Given the description of an element on the screen output the (x, y) to click on. 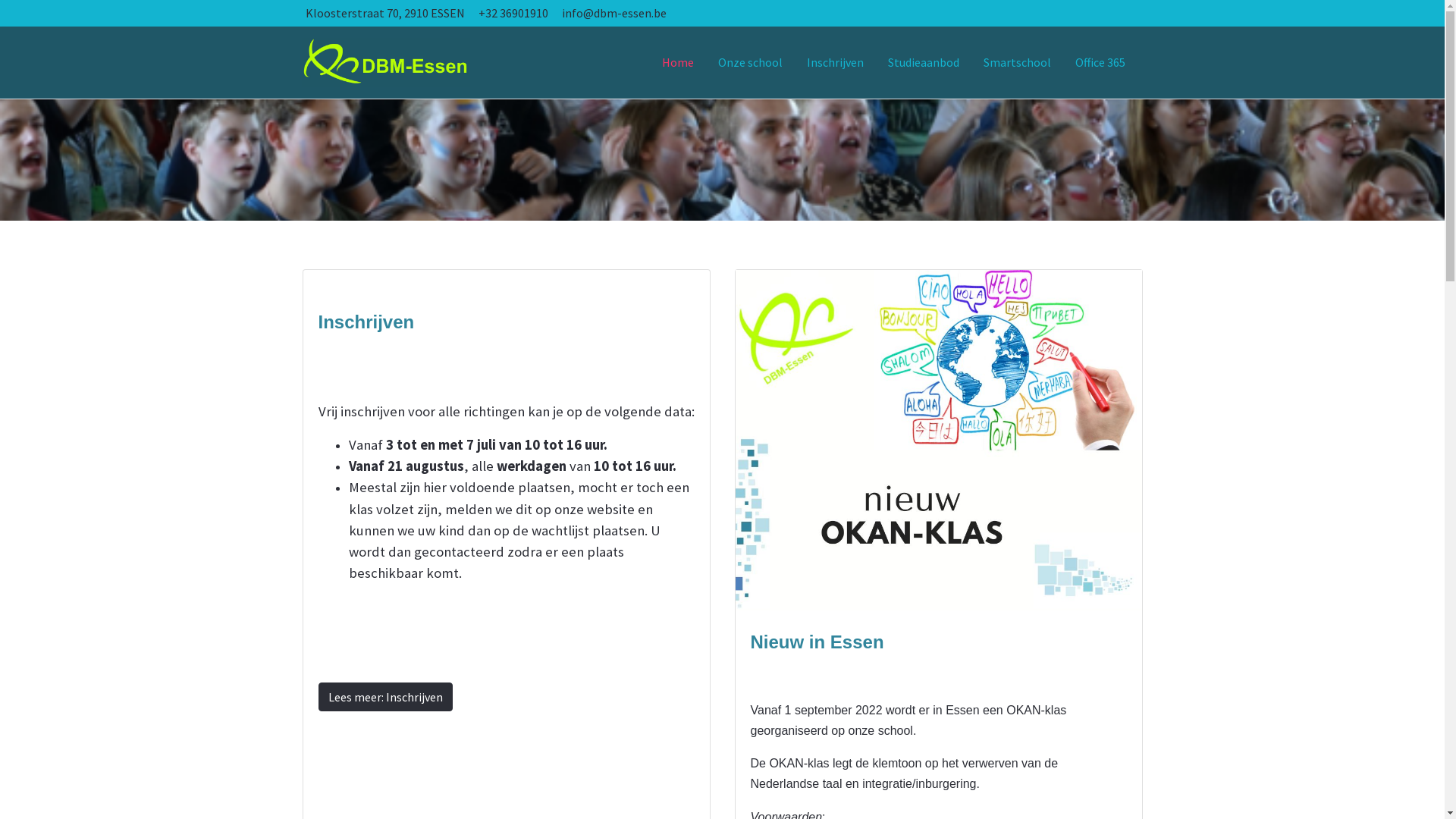
Onze school Element type: text (749, 62)
Studieaanbod Element type: text (922, 62)
Home Element type: text (677, 62)
Inschrijven Element type: text (834, 62)
Lees meer: Inschrijven Element type: text (385, 696)
+32 36901910 Element type: text (512, 12)
Office 365 Element type: text (1100, 62)
info@dbm-essen.be Element type: text (613, 12)
Smartschool Element type: text (1016, 62)
